Given the description of an element on the screen output the (x, y) to click on. 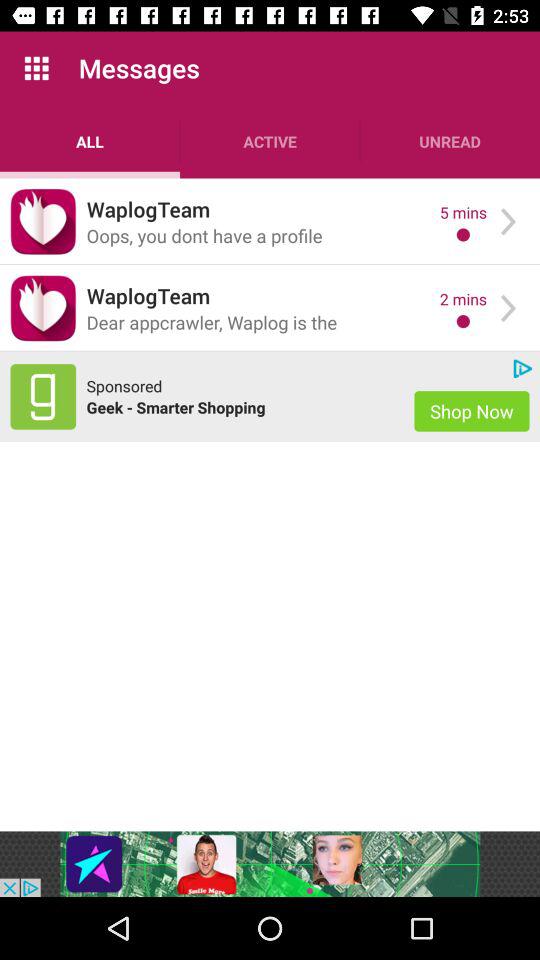
favorite (43, 308)
